Given the description of an element on the screen output the (x, y) to click on. 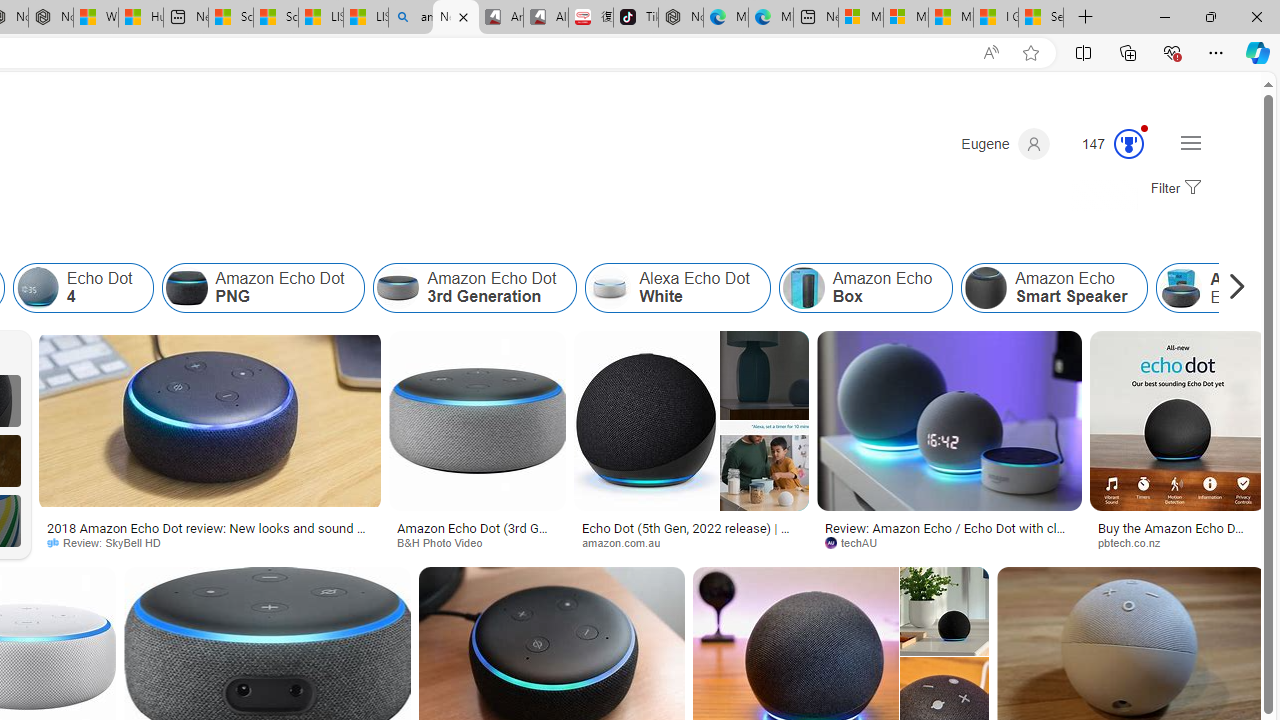
Amazon Echo Dot 3rd Generation (398, 287)
Amazon Echo Box (866, 287)
I Gained 20 Pounds of Muscle in 30 Days! | Watch (995, 17)
Newest Amazon Echo Dot - Search Images (455, 17)
pbtech.co.nz (1178, 542)
Amazon Echo Dot 3rd Generation (475, 287)
Amazon Echo Box (803, 287)
Review: Amazon Echo / Echo Dot with clock (4th gen) - techAU (948, 534)
